Given the description of an element on the screen output the (x, y) to click on. 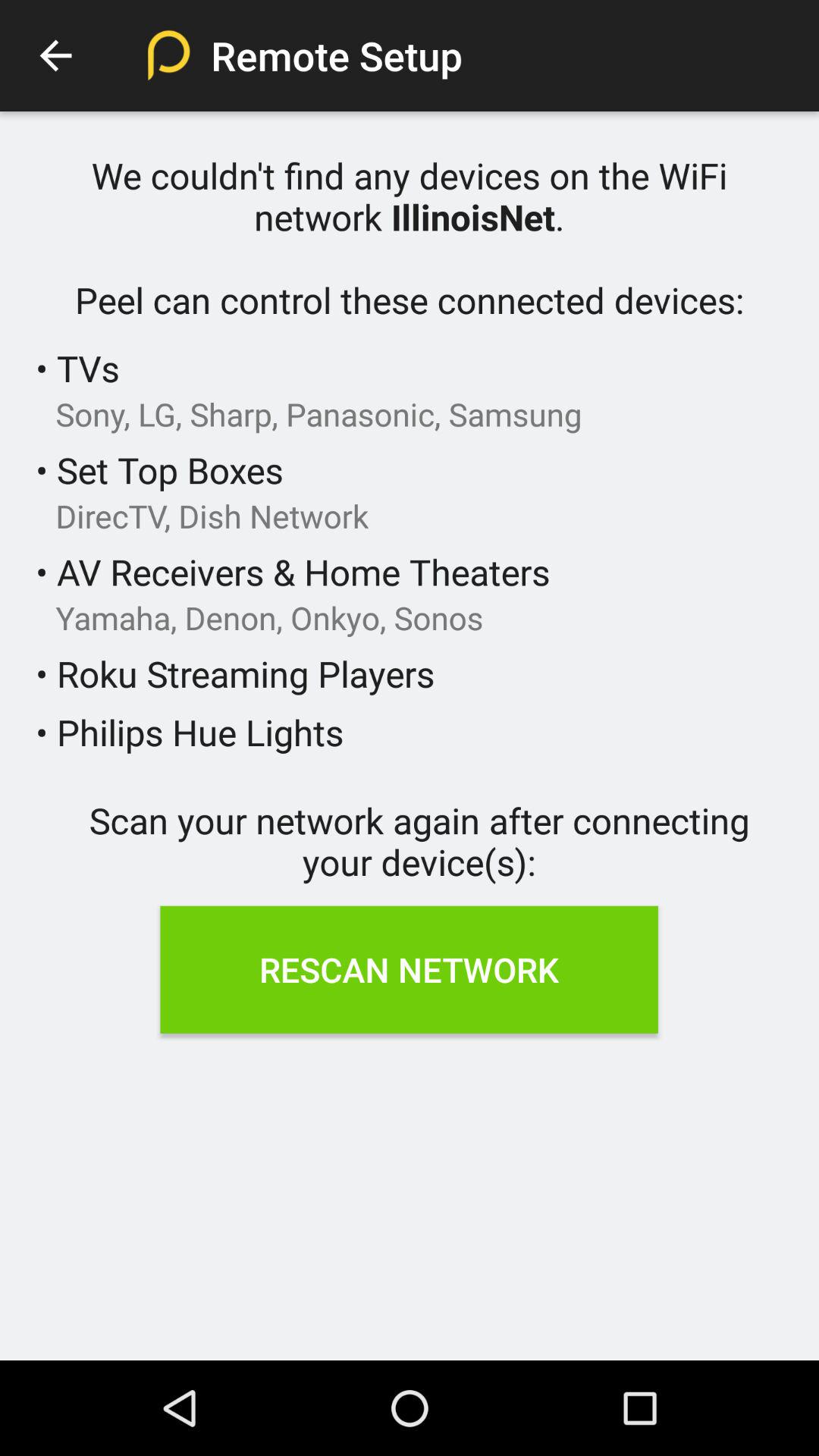
open rescan network icon (409, 969)
